Given the description of an element on the screen output the (x, y) to click on. 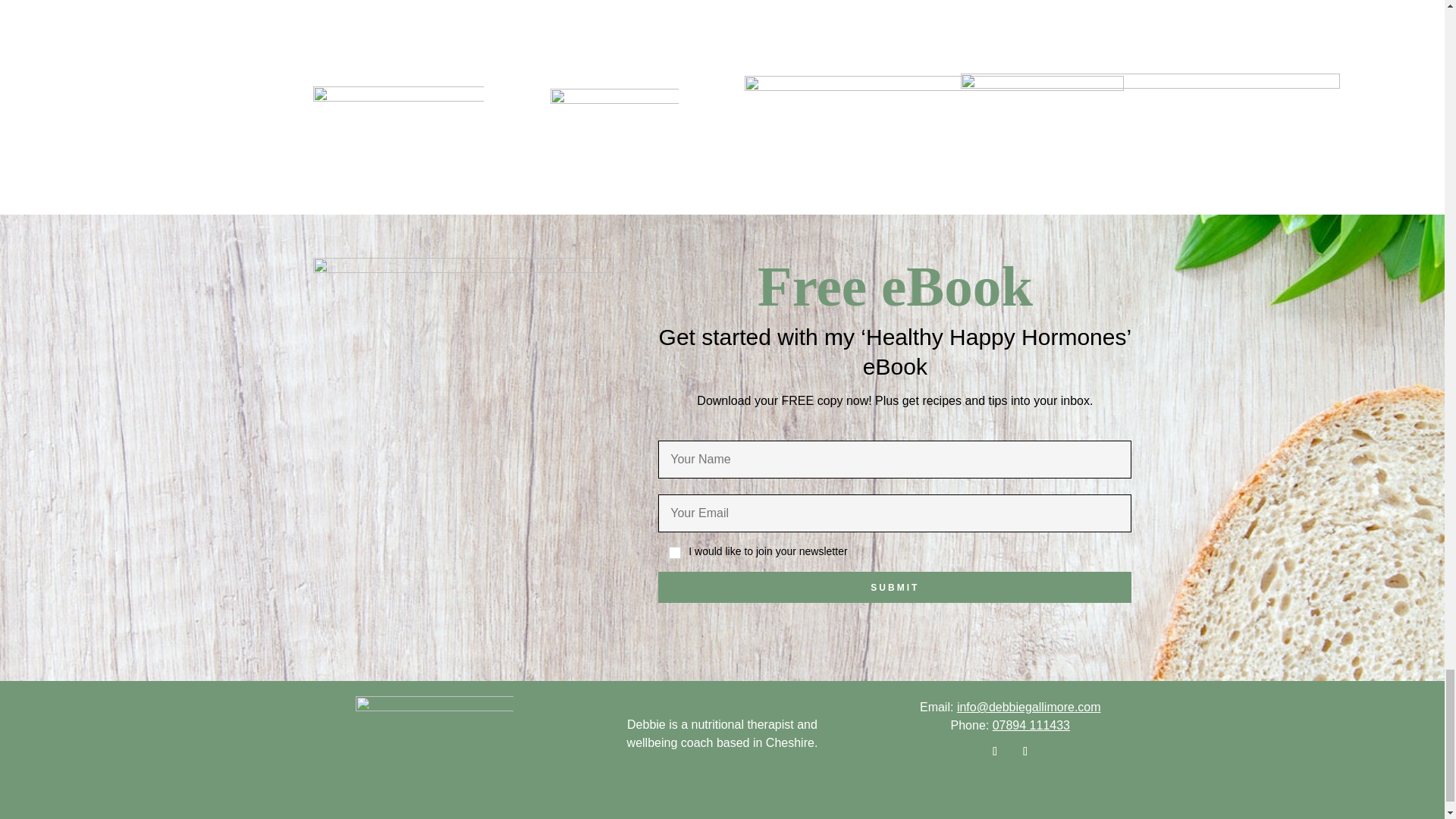
Submit (894, 586)
debbie-gallimore-IFM (614, 129)
07894 111433 (1031, 725)
CNHC (1149, 129)
bant-member-logo (934, 130)
Follow on Facebook (994, 751)
Follow on LinkedIn (1024, 751)
Print (434, 734)
zest new cut out logo (398, 129)
Submit (894, 586)
